Given the description of an element on the screen output the (x, y) to click on. 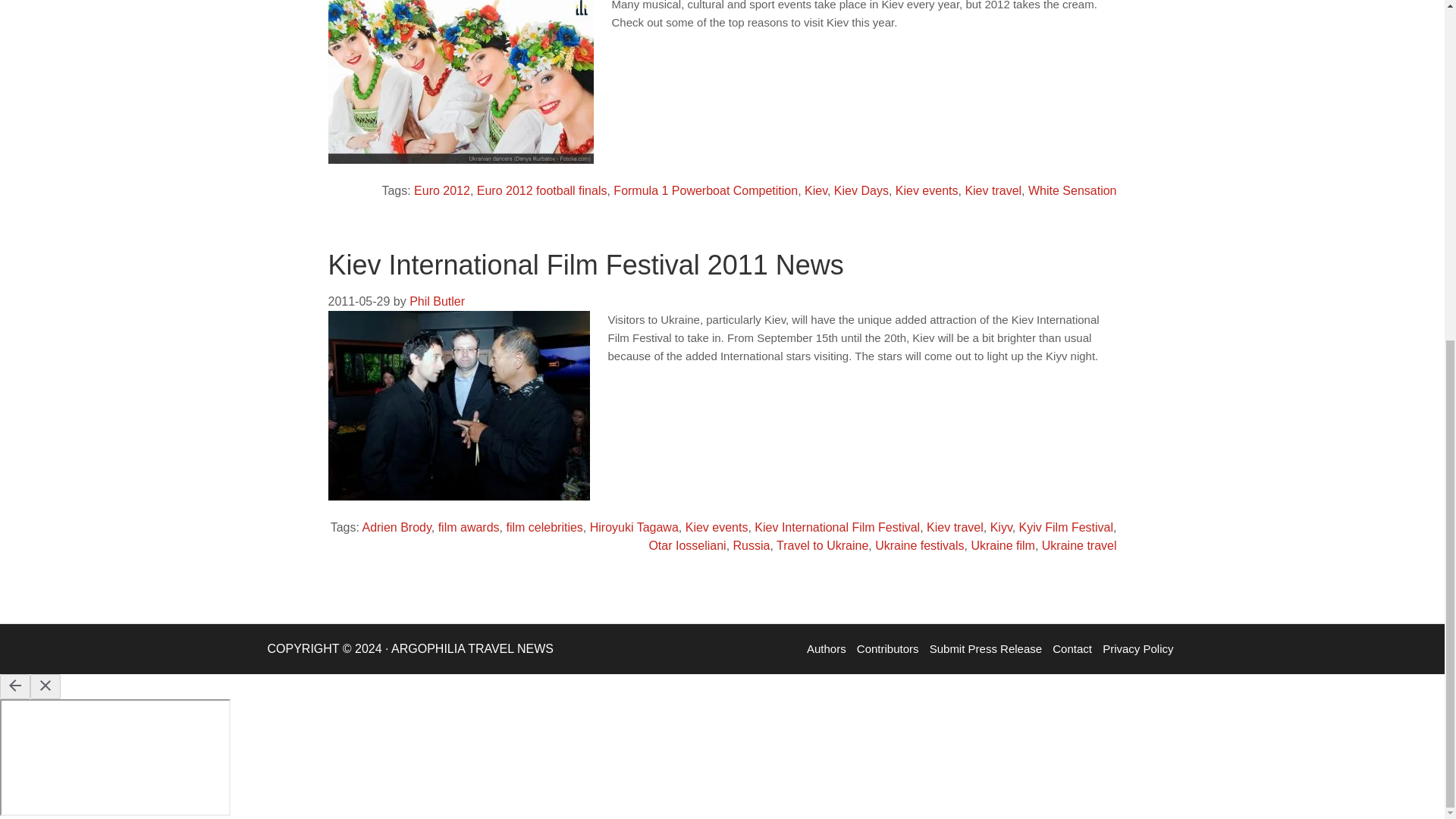
Kiev events (716, 526)
Kiev Days (861, 190)
Formula 1 Powerboat Competition (704, 190)
Euro 2012 (441, 190)
Kiev (816, 190)
Adrien Brody (395, 526)
film celebrities (543, 526)
Kiev International Film Festival 2011 News (585, 264)
Kiev travel (992, 190)
Hiroyuki Tagawa (633, 526)
Kiev events (926, 190)
Euro 2012 football finals (542, 190)
film awards (468, 526)
White Sensation (1071, 190)
Authors (826, 648)
